Given the description of an element on the screen output the (x, y) to click on. 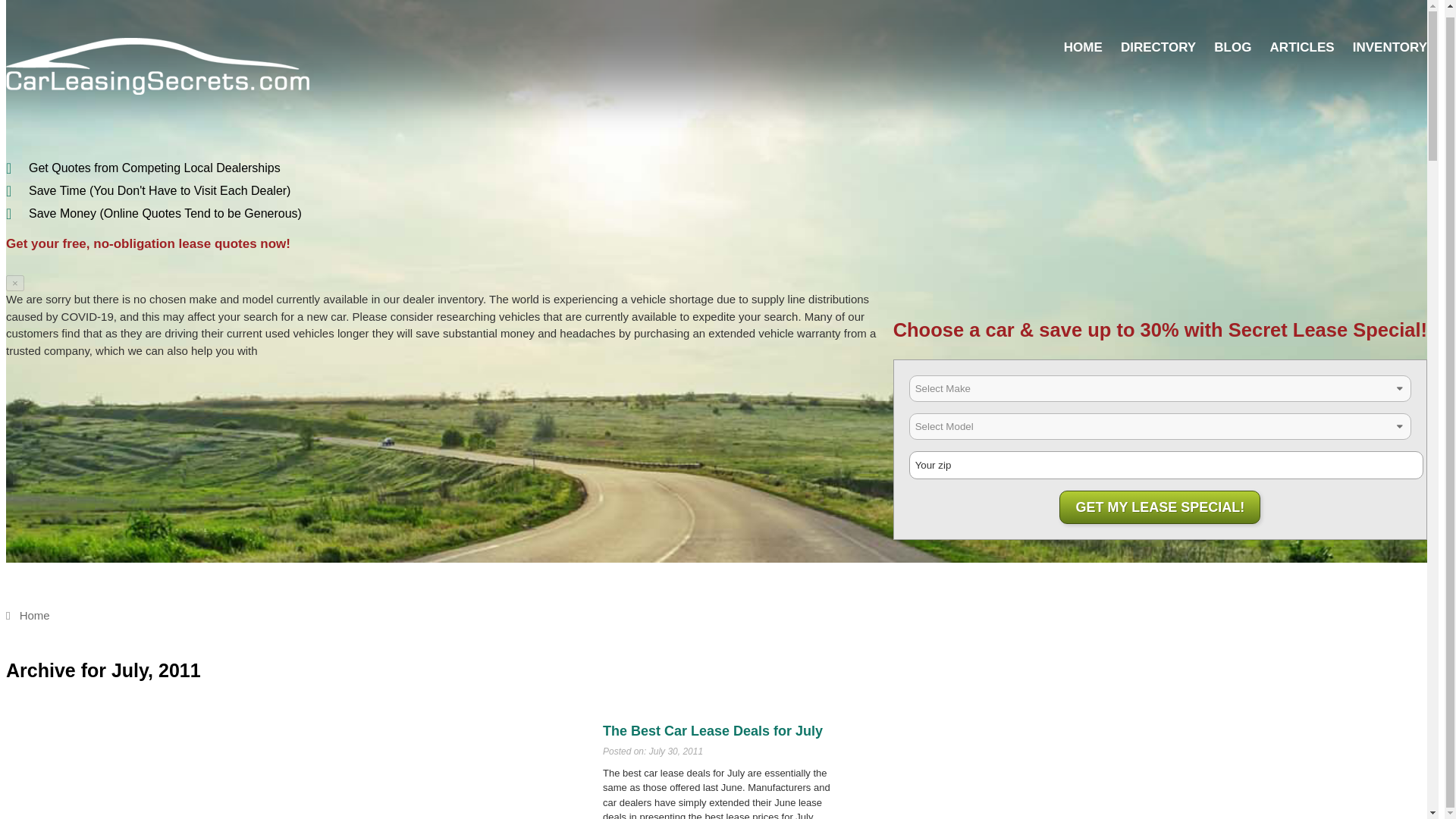
Get My Lease Special! (1159, 507)
The Best Car Lease Deals for July (712, 730)
BLOG (1232, 47)
ARTICLES (1302, 47)
HOME (1083, 47)
Home (27, 615)
DIRECTORY (1158, 47)
Permanent Link to The Best Car Lease Deals for July (712, 730)
Get My Lease Special! (1159, 507)
Get your free, no-obligation lease quotes now! (147, 243)
